Given the description of an element on the screen output the (x, y) to click on. 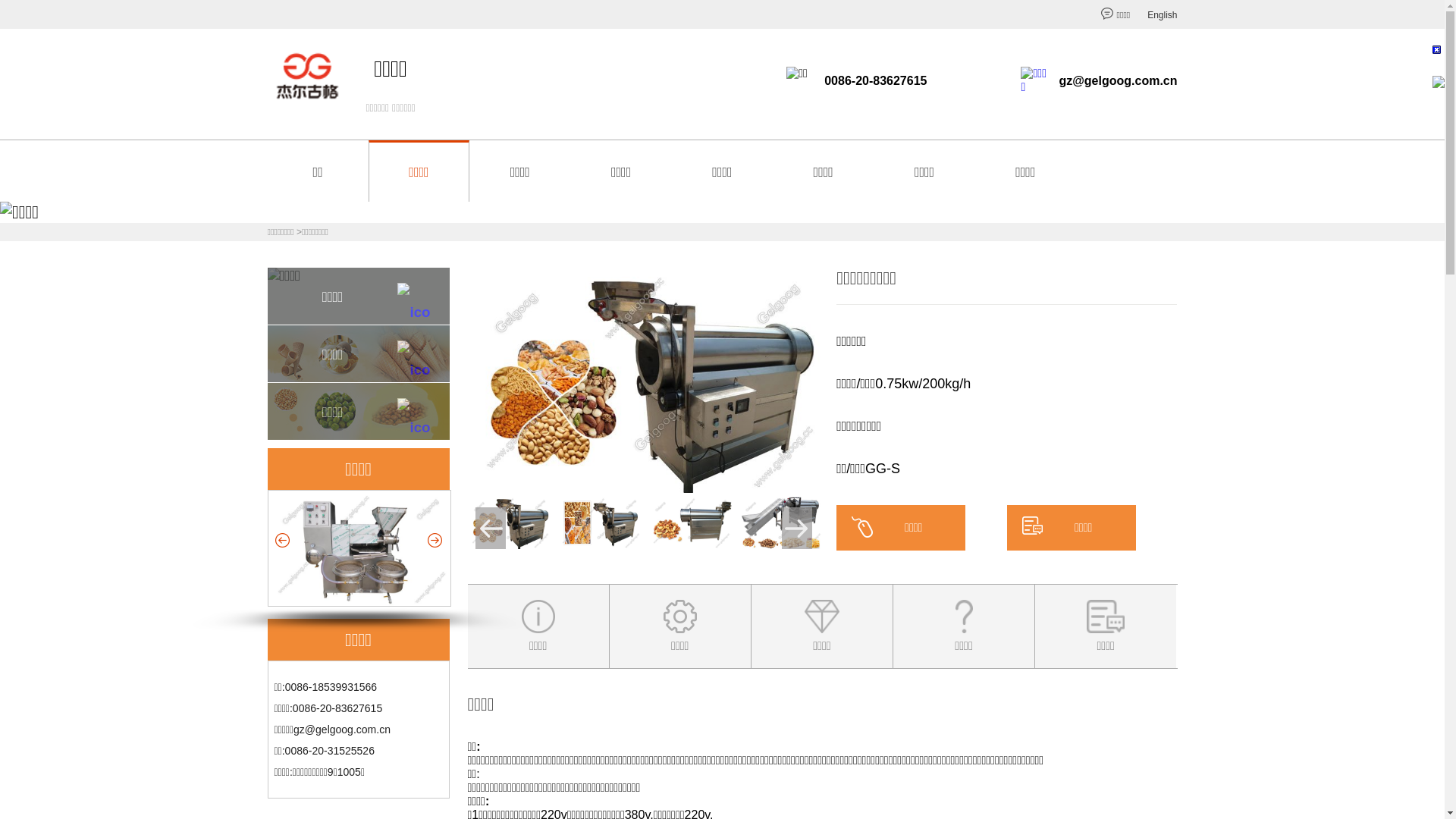
0086-20-83627615 Element type: text (337, 708)
0086-20-83627615 Element type: text (875, 80)
English Element type: text (1161, 14)
gz@gelgoog.com.cn Element type: text (341, 729)
0086-18539931566 Element type: text (330, 686)
gz@gelgoog.com.cn Element type: text (1117, 80)
